Given the description of an element on the screen output the (x, y) to click on. 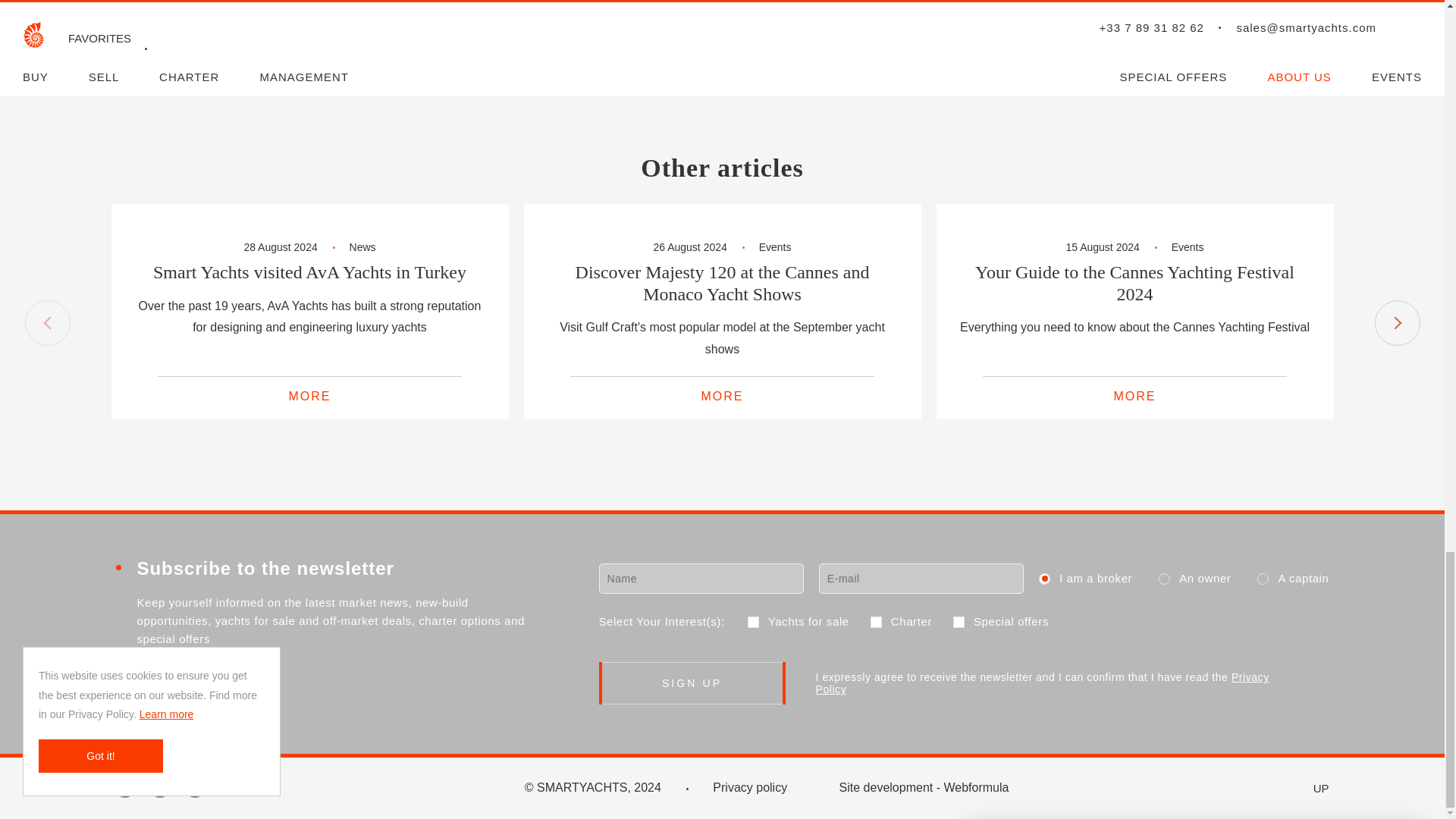
Telegram (594, 64)
Smart Yachts visited AvA Yachts in Turkey (309, 272)
WhatsApp (626, 64)
MORE (309, 397)
